Given the description of an element on the screen output the (x, y) to click on. 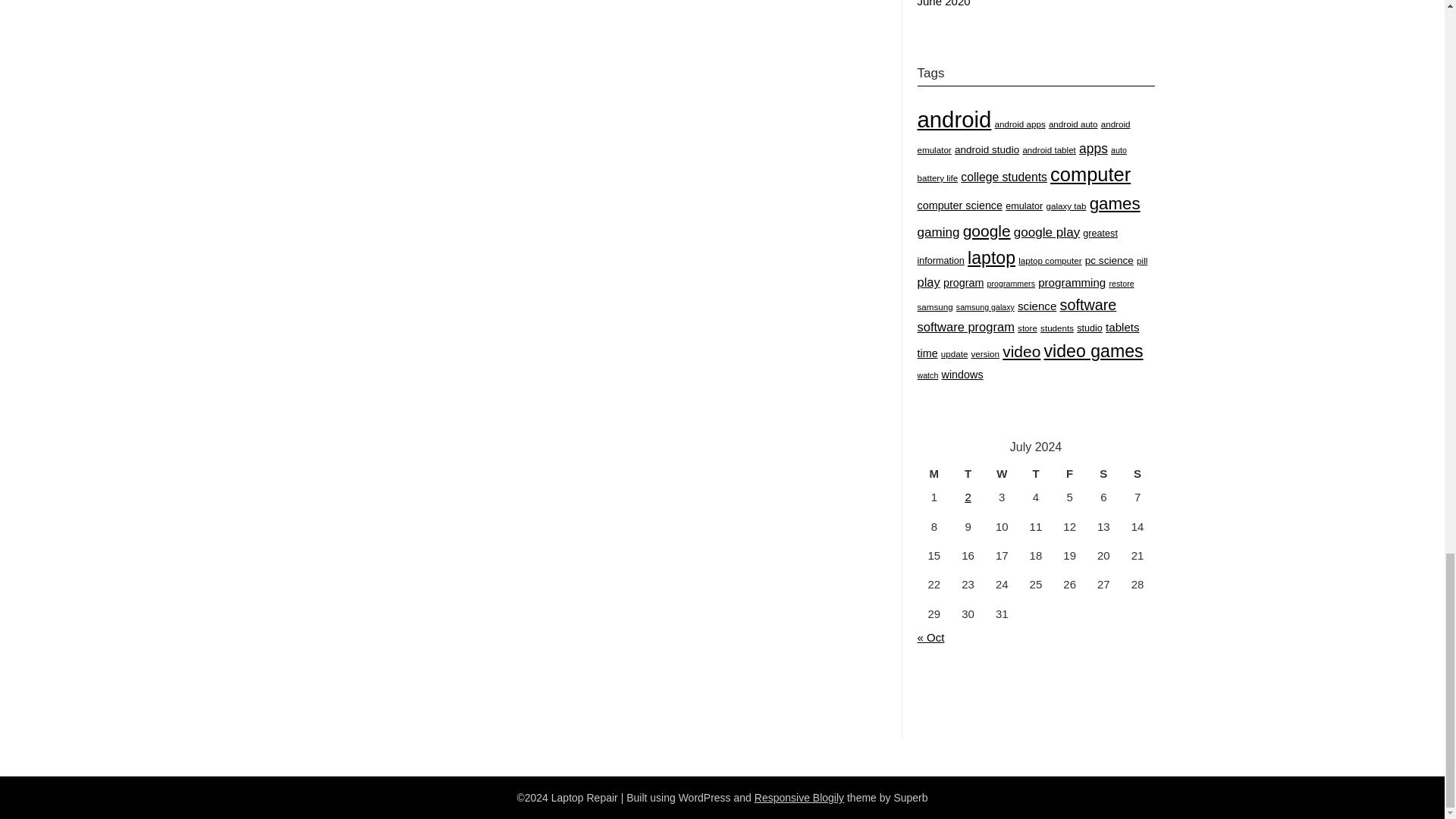
Saturday (1103, 474)
Monday (934, 474)
Thursday (1035, 474)
Wednesday (1002, 474)
Tuesday (967, 474)
Friday (1069, 474)
Sunday (1137, 474)
